Given the description of an element on the screen output the (x, y) to click on. 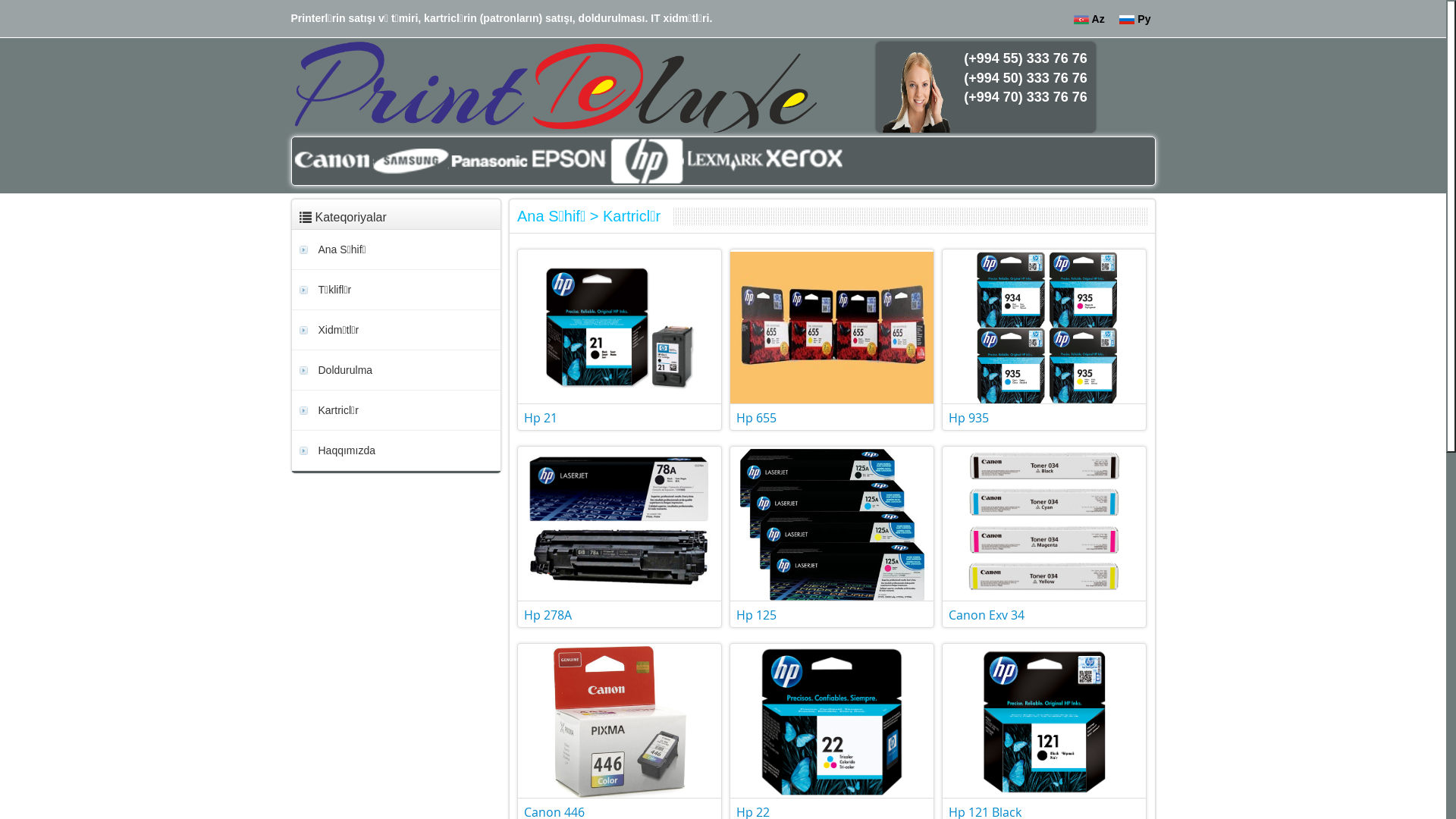
Panasonic Element type: hover (500, 159)
HP Element type: hover (653, 159)
Canon Exv 34 Element type: text (986, 614)
Az   Element type: text (1091, 18)
Hp 655 Element type: text (756, 417)
Hp 935 Element type: text (968, 417)
Xerox Element type: hover (807, 159)
Canon Element type: hover (345, 159)
Samsung Element type: hover (423, 159)
Hp 21 Element type: text (540, 417)
Epson Element type: hover (577, 159)
Doldurulma Element type: text (399, 369)
Hp 125 Element type: text (756, 614)
(+994 55) 333 76 76
(+994 50) 333 76 76
(+994 70) 333 76 76 Element type: text (985, 86)
Site logo Element type: hover (555, 86)
Hp 278A Element type: text (547, 614)
Lexmark Element type: hover (730, 159)
